Given the description of an element on the screen output the (x, y) to click on. 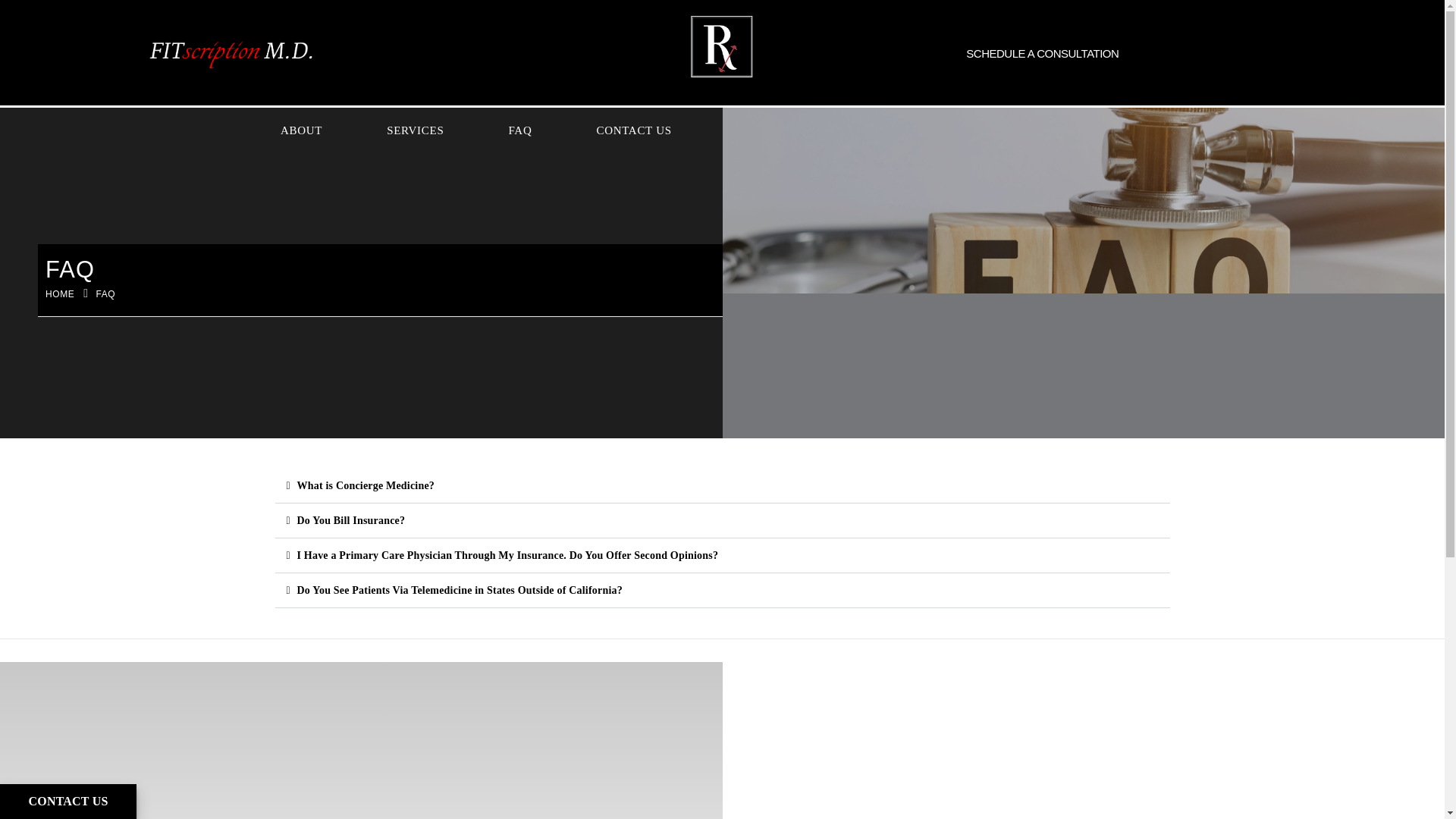
ABOUT (300, 130)
SCHEDULE A CONSULTATION (1042, 53)
What is Concierge Medicine? (366, 485)
Go to Home Page (59, 293)
HOME (59, 293)
FAQ (520, 130)
Do You Bill Insurance? (351, 520)
CONTACT US (632, 130)
SERVICES (414, 130)
